Given the description of an element on the screen output the (x, y) to click on. 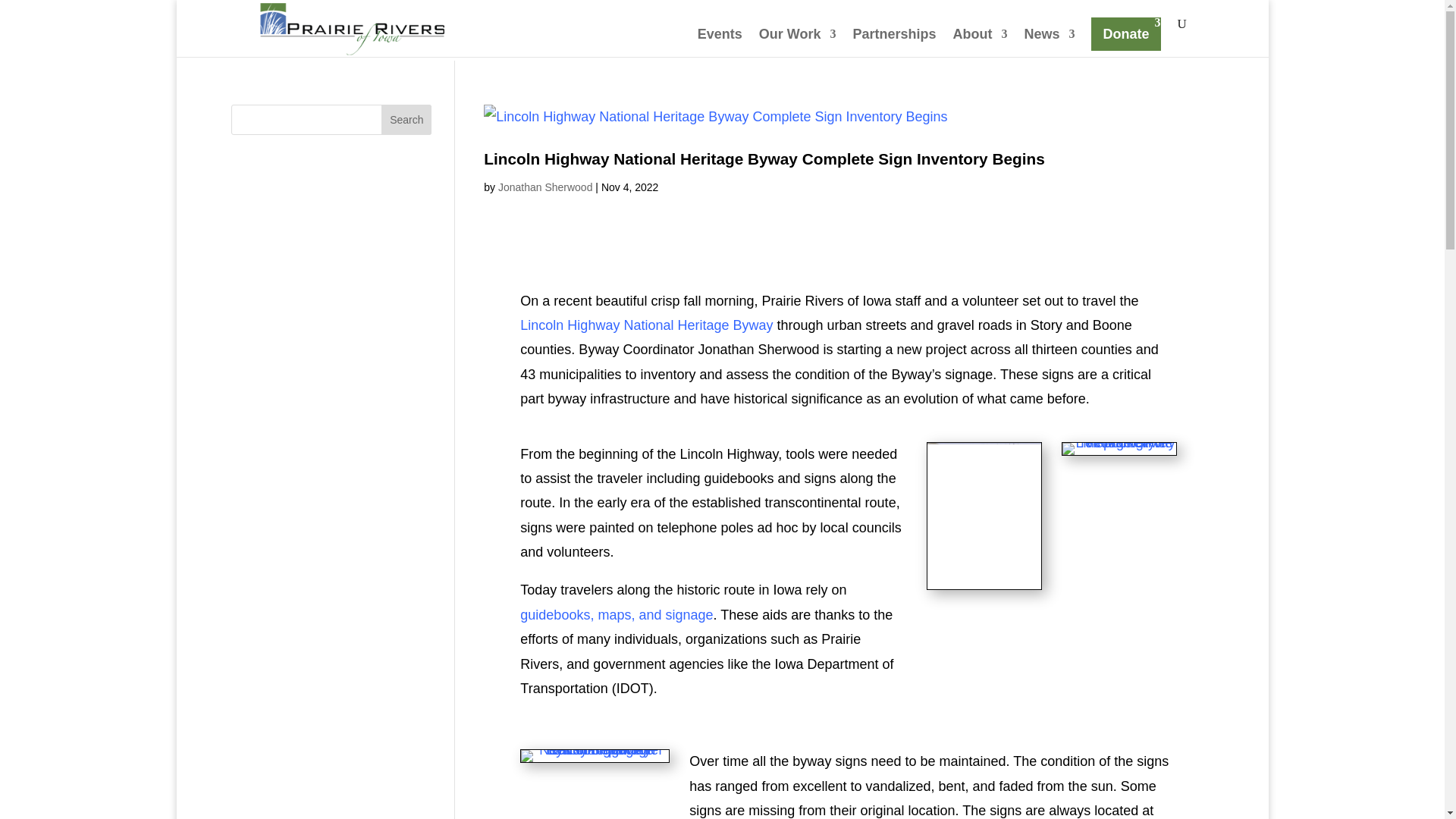
Posts by Jonathan Sherwood (544, 186)
News (1048, 42)
Search (405, 119)
guidebooks, maps, and signage (616, 614)
Search (405, 119)
Events (719, 42)
Partnerships (893, 42)
Our Work (796, 42)
Jonathan Sherwood (544, 186)
Lincoln Highway National Heritage Byway (646, 324)
Lincoln Highway Vintage Style Telephone Pole Marker (1118, 454)
About (979, 42)
